Given the description of an element on the screen output the (x, y) to click on. 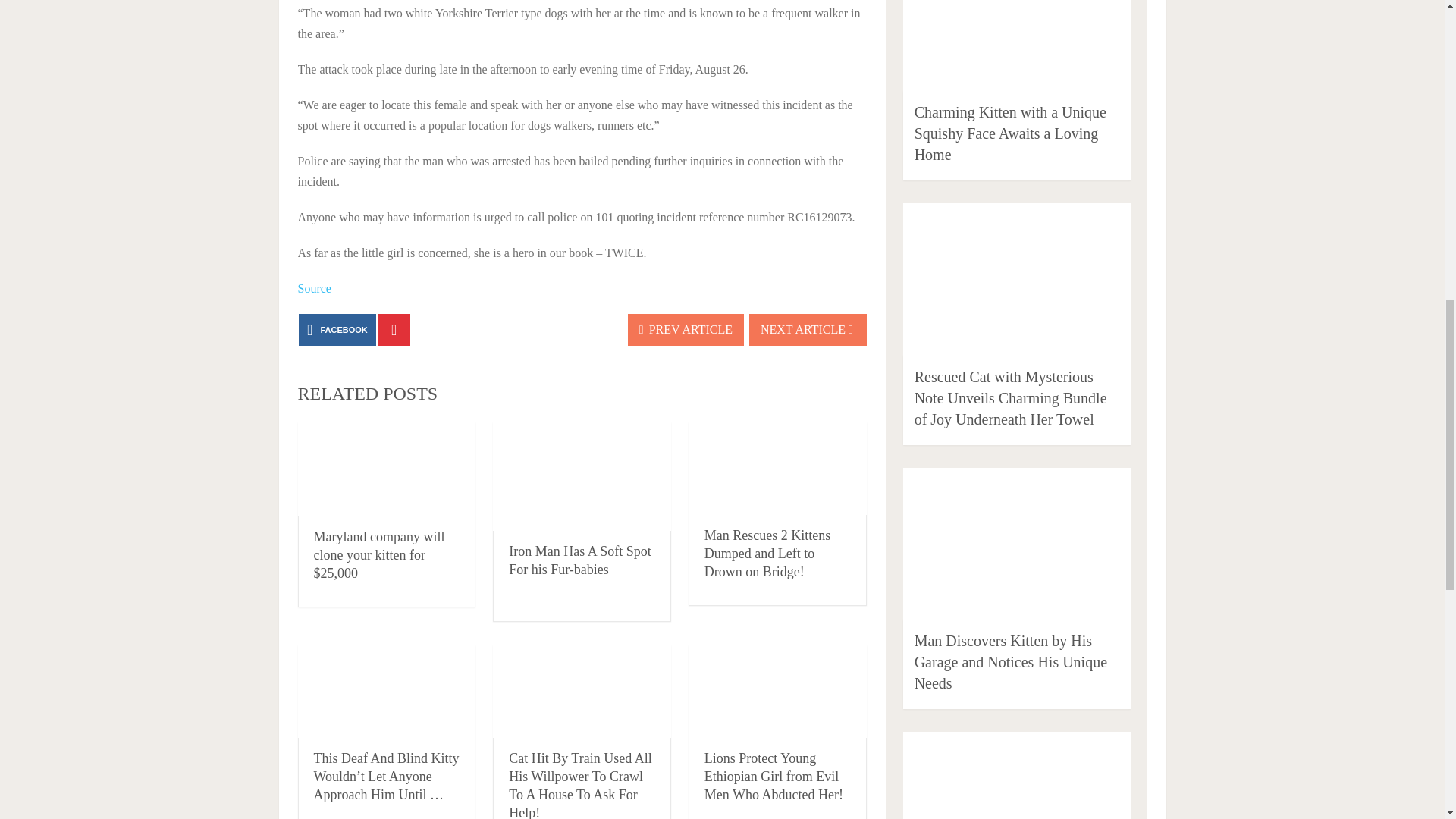
PREV ARTICLE (685, 329)
FACEBOOK (336, 329)
NEXT ARTICLE (807, 329)
Iron Man Has A Soft Spot For his Fur-babies (579, 560)
Source (313, 287)
Man Rescues 2 Kittens Dumped and Left to Drown on Bridge! (766, 553)
Man Rescues 2 Kittens Dumped and Left to Drown on Bridge! (766, 553)
Iron Man Has A Soft Spot For his Fur-babies (579, 560)
